Given the description of an element on the screen output the (x, y) to click on. 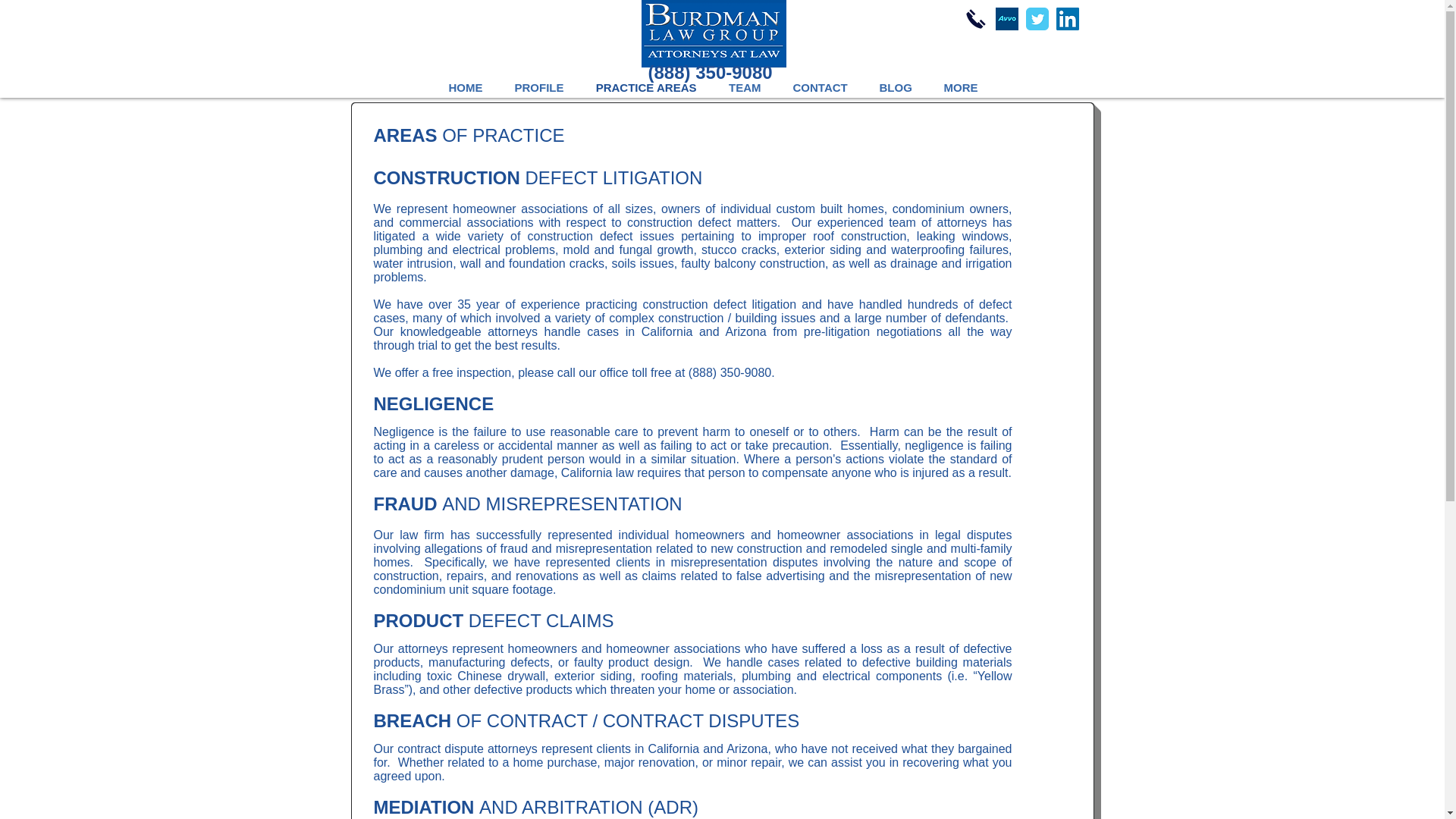
PRACTICE AREAS (645, 86)
Burdman Law Group Attorneys (714, 33)
PROFILE (539, 86)
TEAM (745, 86)
HOME (464, 86)
CONTACT (819, 86)
BLOG (895, 86)
